Given the description of an element on the screen output the (x, y) to click on. 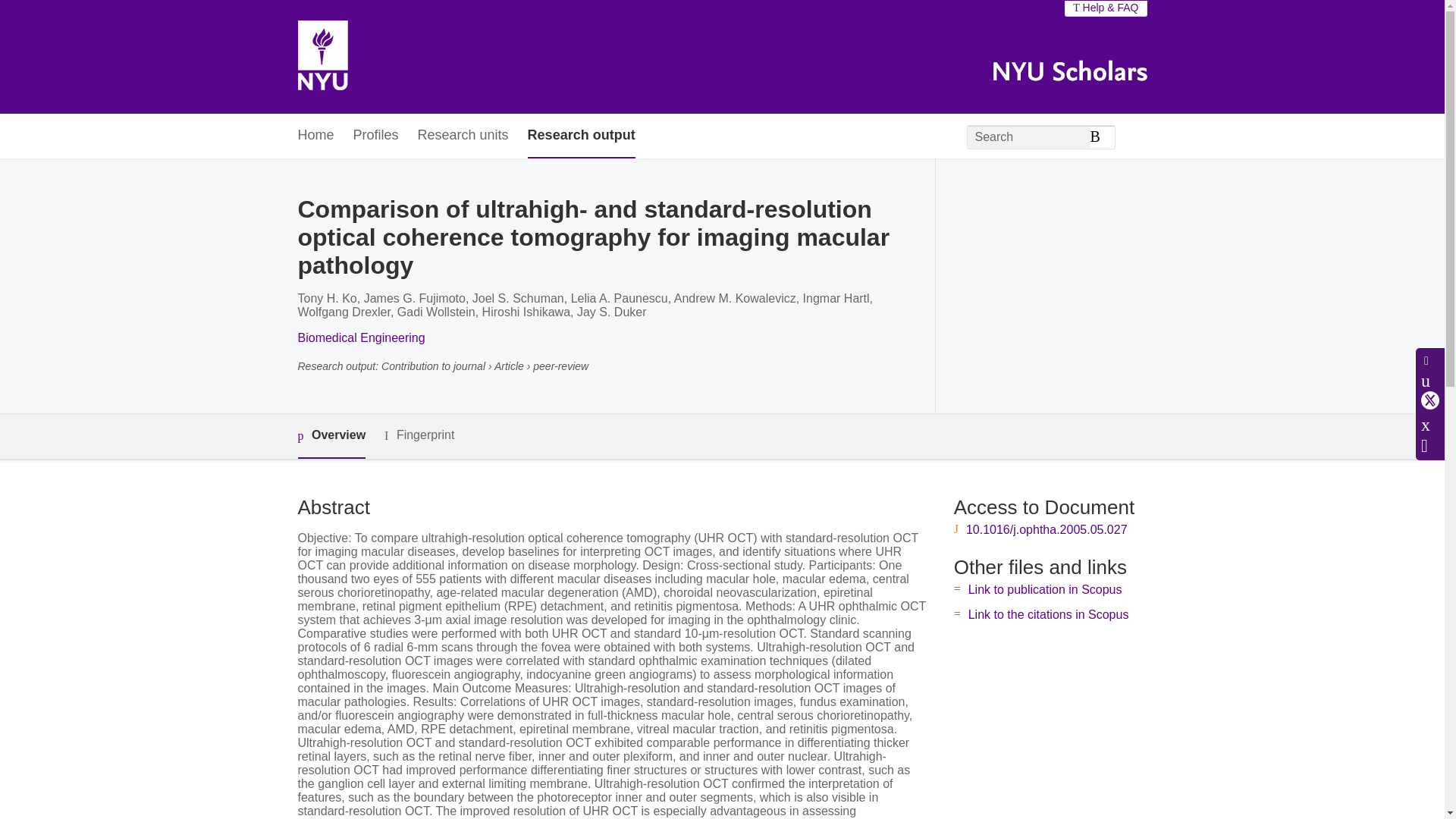
Research units (462, 135)
Profiles (375, 135)
Link to the citations in Scopus (1048, 614)
Overview (331, 436)
Fingerprint (419, 435)
Research output (580, 135)
Link to publication in Scopus (1045, 589)
Biomedical Engineering (361, 337)
